Given the description of an element on the screen output the (x, y) to click on. 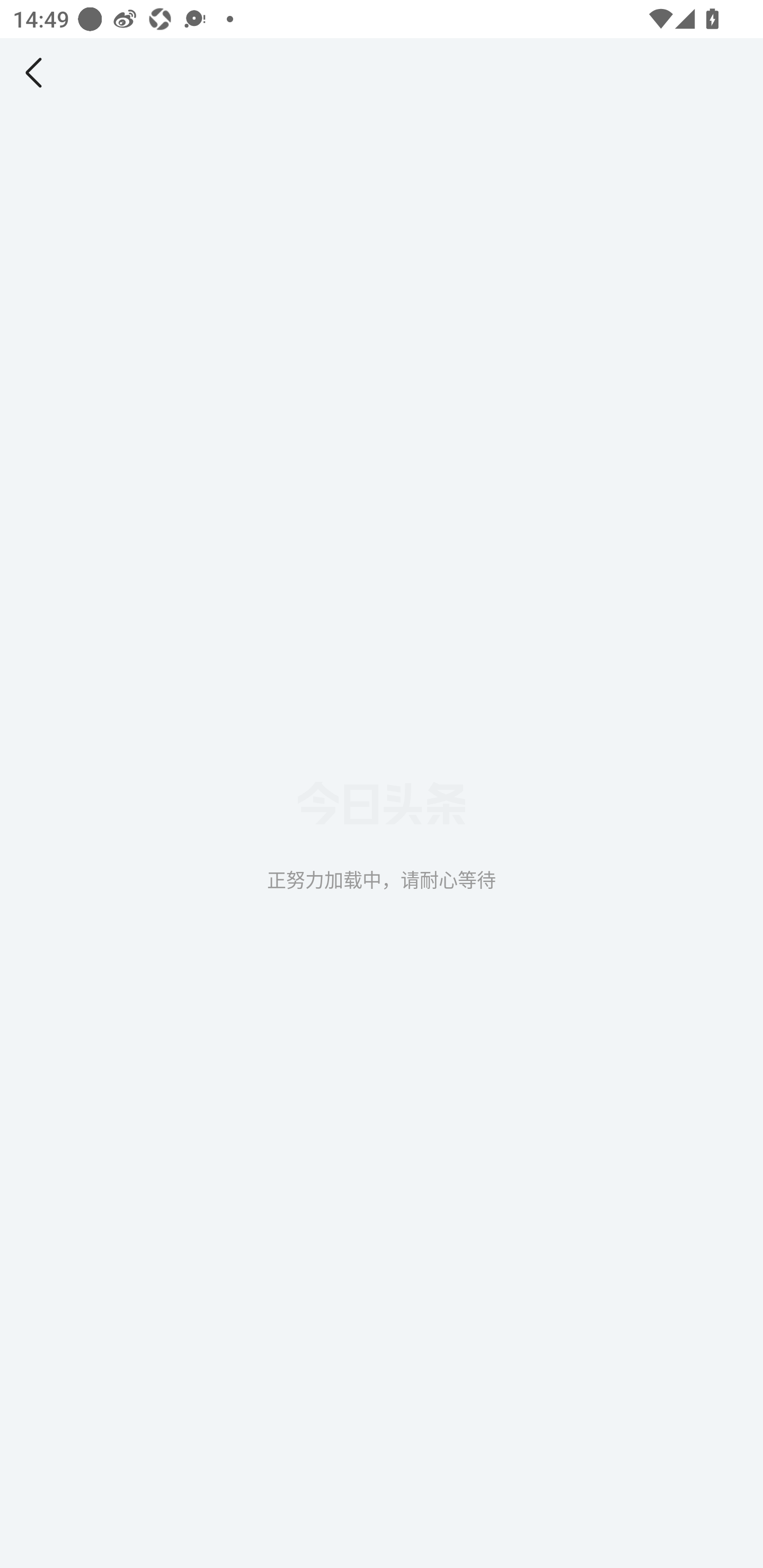
返回，按钮 (37, 72)
